Given the description of an element on the screen output the (x, y) to click on. 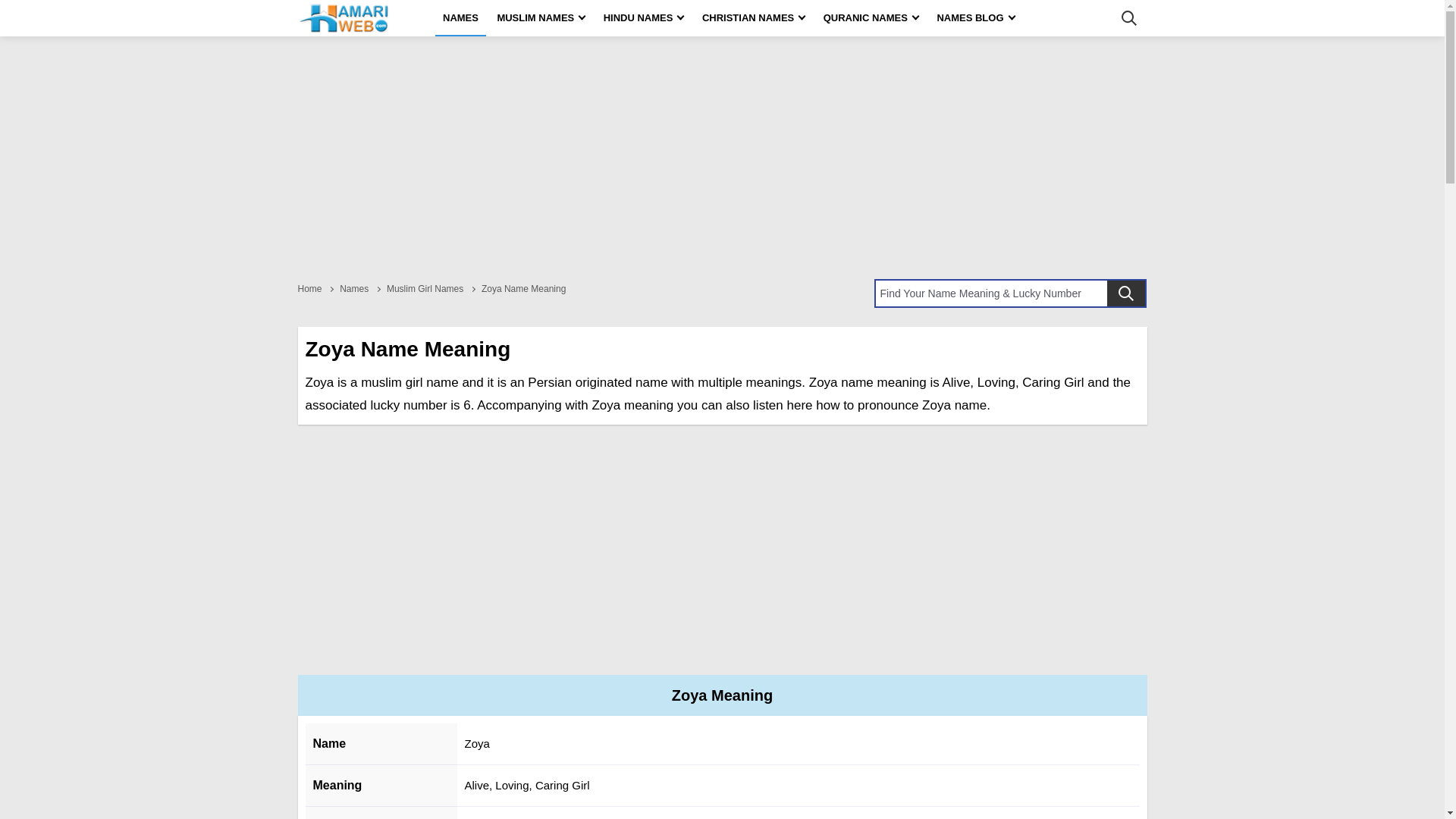
Hamariweb (343, 18)
HINDU NAMES (643, 18)
NAMES BLOG (975, 18)
MUSLIM NAMES (540, 18)
NAMES (460, 18)
CHRISTIAN NAMES (753, 18)
QURANIC NAMES (870, 18)
